Given the description of an element on the screen output the (x, y) to click on. 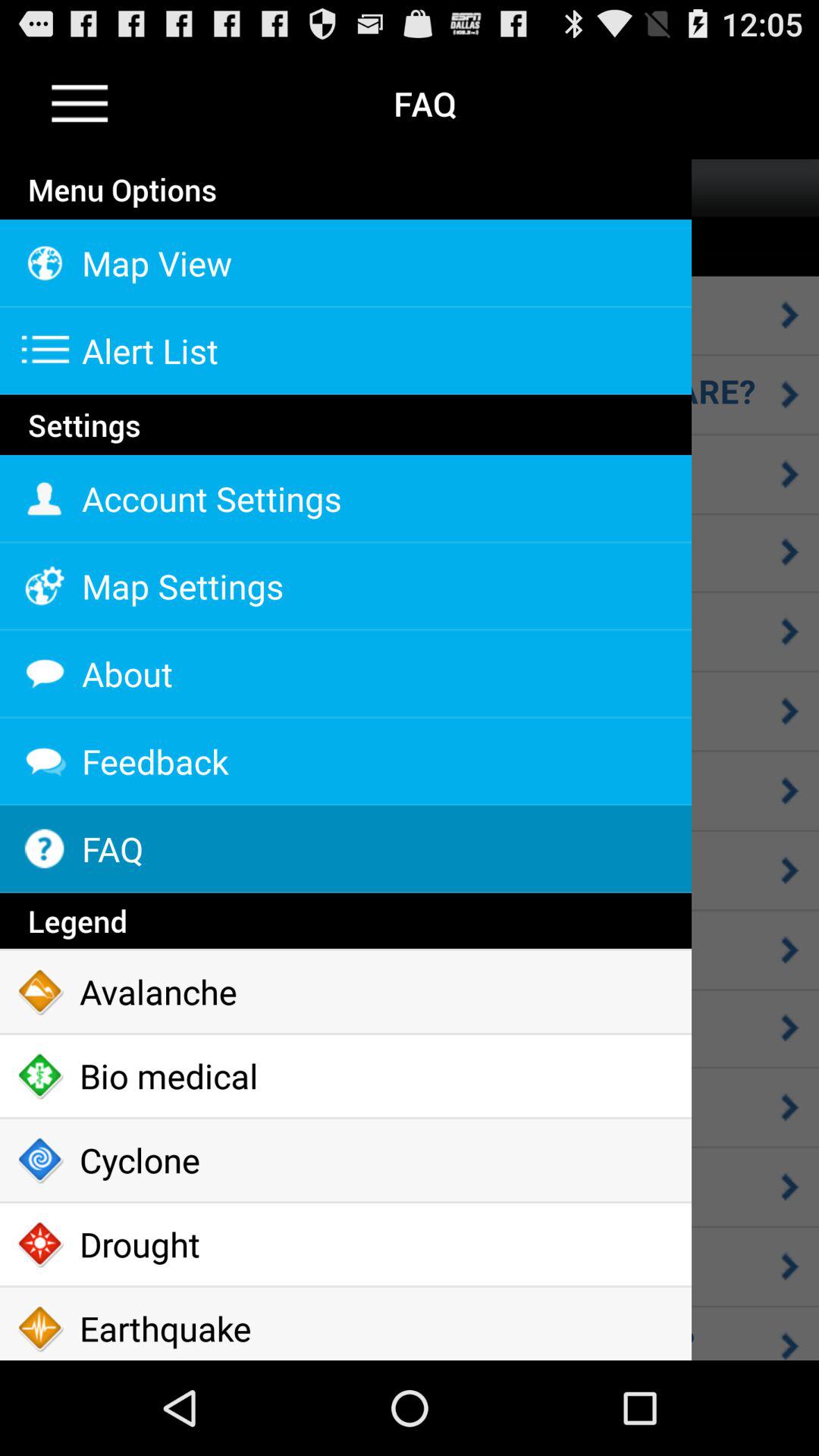
turn off legend item (345, 920)
